Given the description of an element on the screen output the (x, y) to click on. 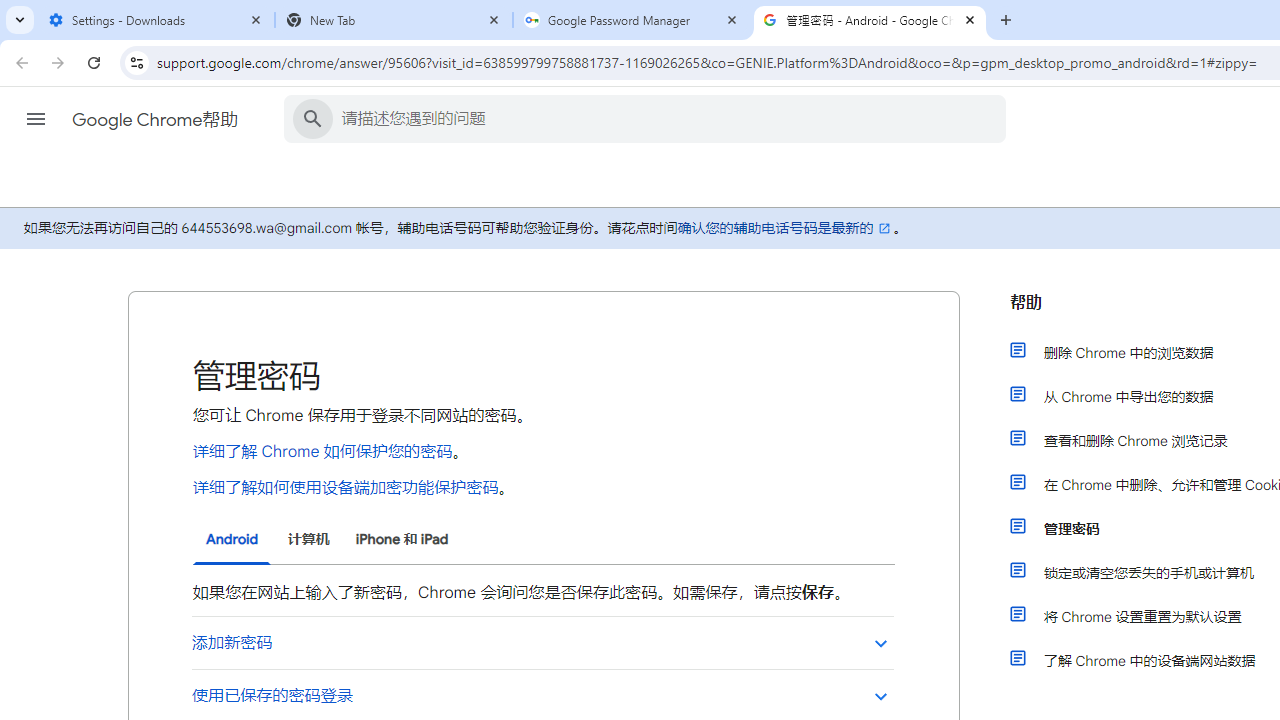
New Tab (394, 20)
Settings - Downloads (156, 20)
Android (232, 540)
